Given the description of an element on the screen output the (x, y) to click on. 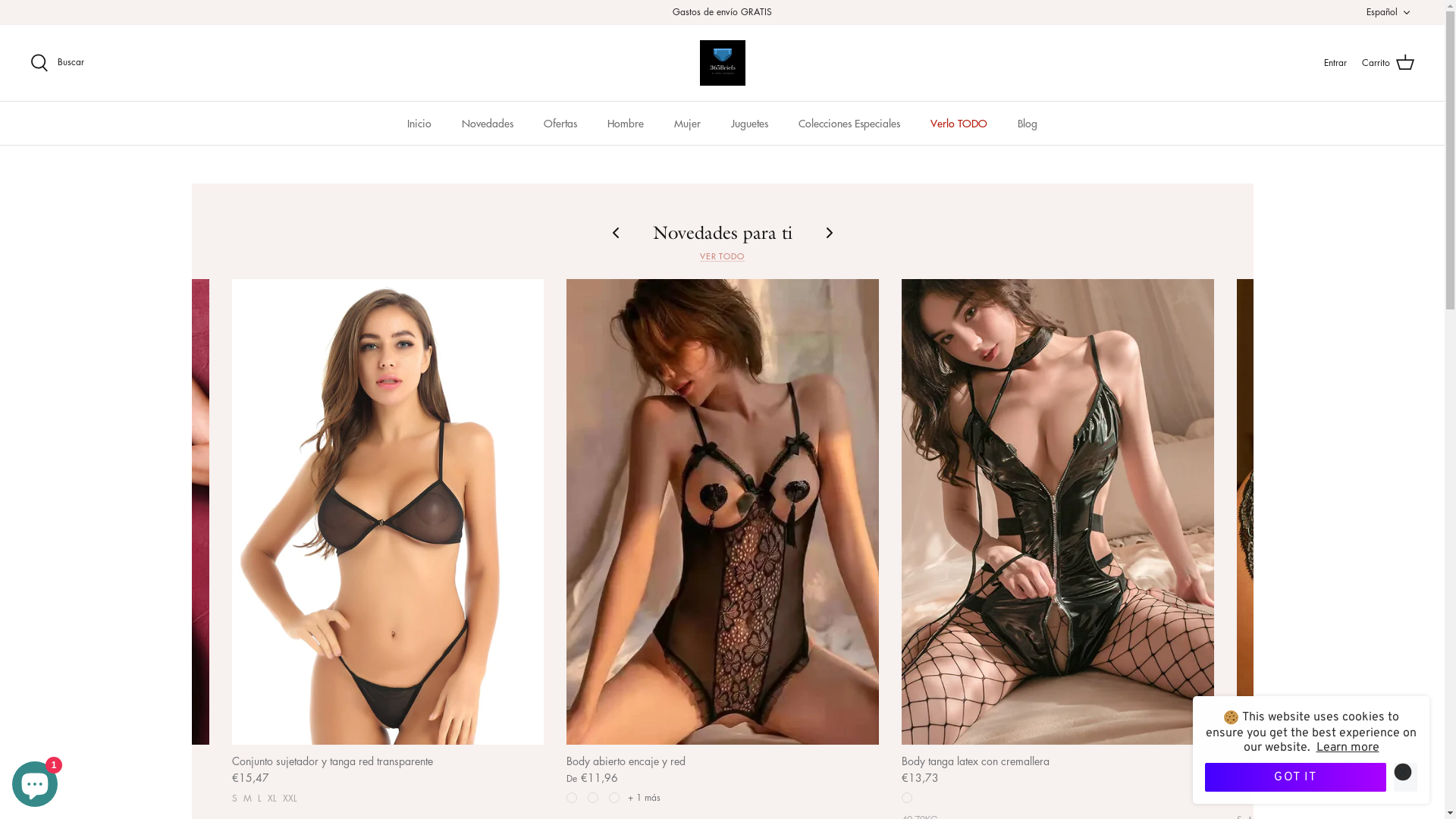
Hombre Element type: text (625, 122)
Inicio Element type: text (419, 122)
Verlo TODO Element type: text (958, 122)
Chat de la tienda online Shopify Element type: hover (34, 780)
Learn more Element type: text (1347, 747)
Novedades Element type: text (487, 122)
Mujer Element type: text (687, 122)
Entrar Element type: text (1335, 62)
Novedades para ti Element type: text (721, 232)
GOT IT Element type: text (1295, 776)
Juguetes Element type: text (749, 122)
365Briefs Element type: hover (721, 62)
Ofertas Element type: text (560, 122)
VER TODO Element type: text (721, 254)
Blog Element type: text (1027, 122)
Colecciones Especiales Element type: text (848, 122)
Buscar Element type: text (57, 62)
Carrito Element type: text (1387, 62)
